Given the description of an element on the screen output the (x, y) to click on. 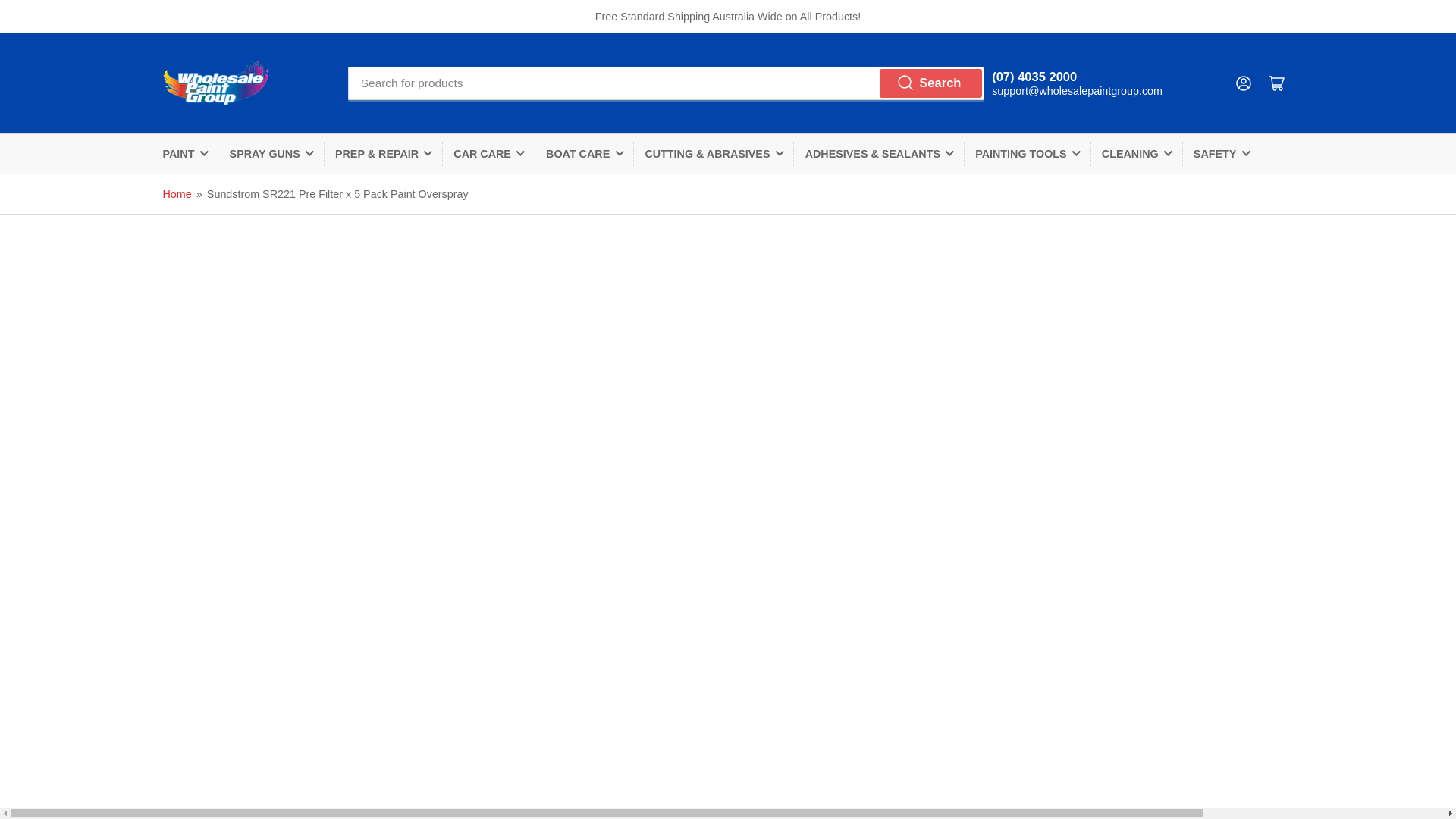
Open mini cart (1277, 82)
Log in (1243, 82)
Search (930, 83)
